Given the description of an element on the screen output the (x, y) to click on. 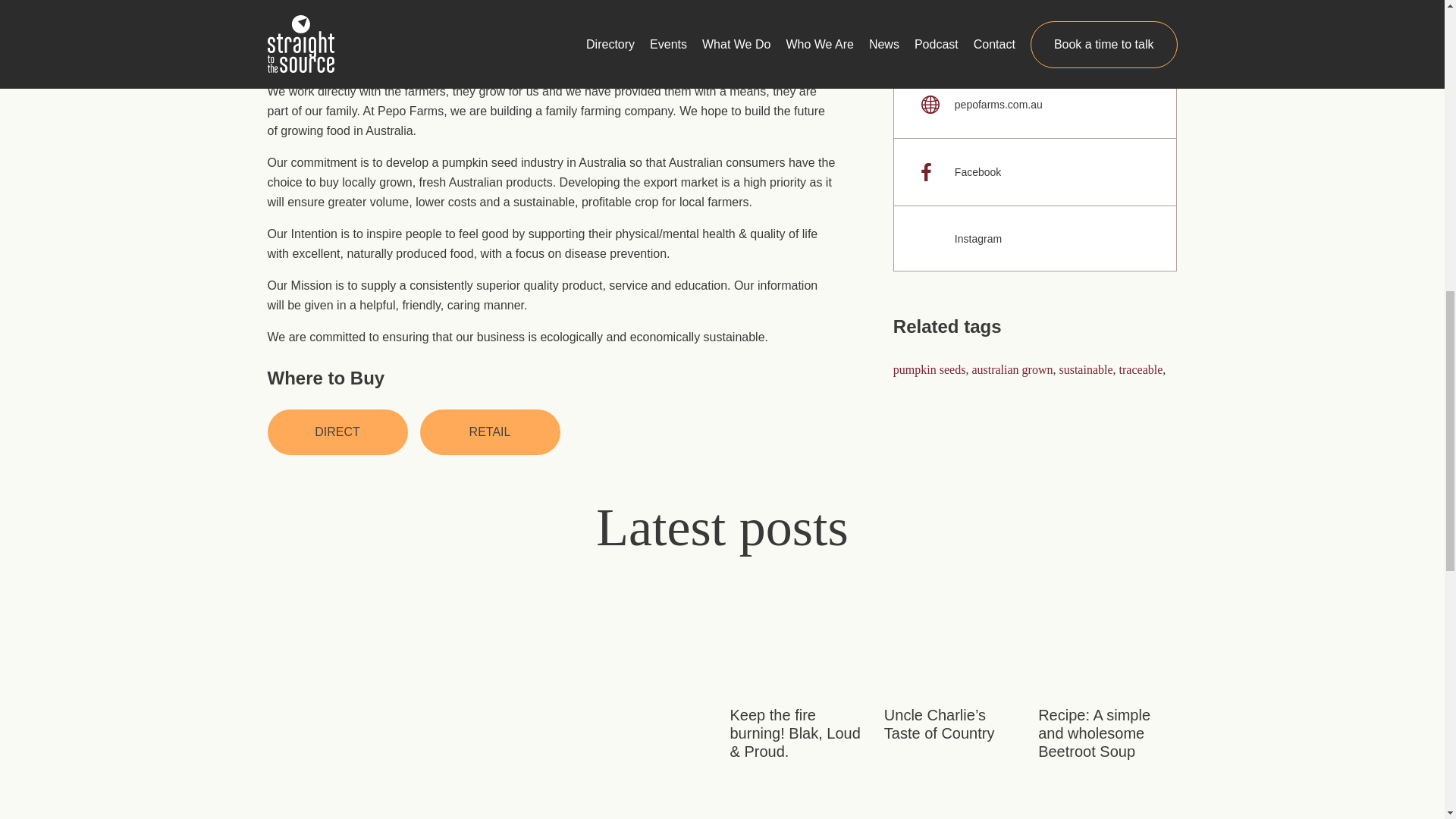
traceable (1141, 369)
Instagram (1035, 238)
DIRECT (336, 432)
RETAIL (490, 432)
australian grown (1011, 369)
sustainable (1085, 369)
0357521199 (1035, 37)
pumpkin seeds (929, 369)
Facebook (1035, 171)
pepofarms.com.au (1035, 104)
